Given the description of an element on the screen output the (x, y) to click on. 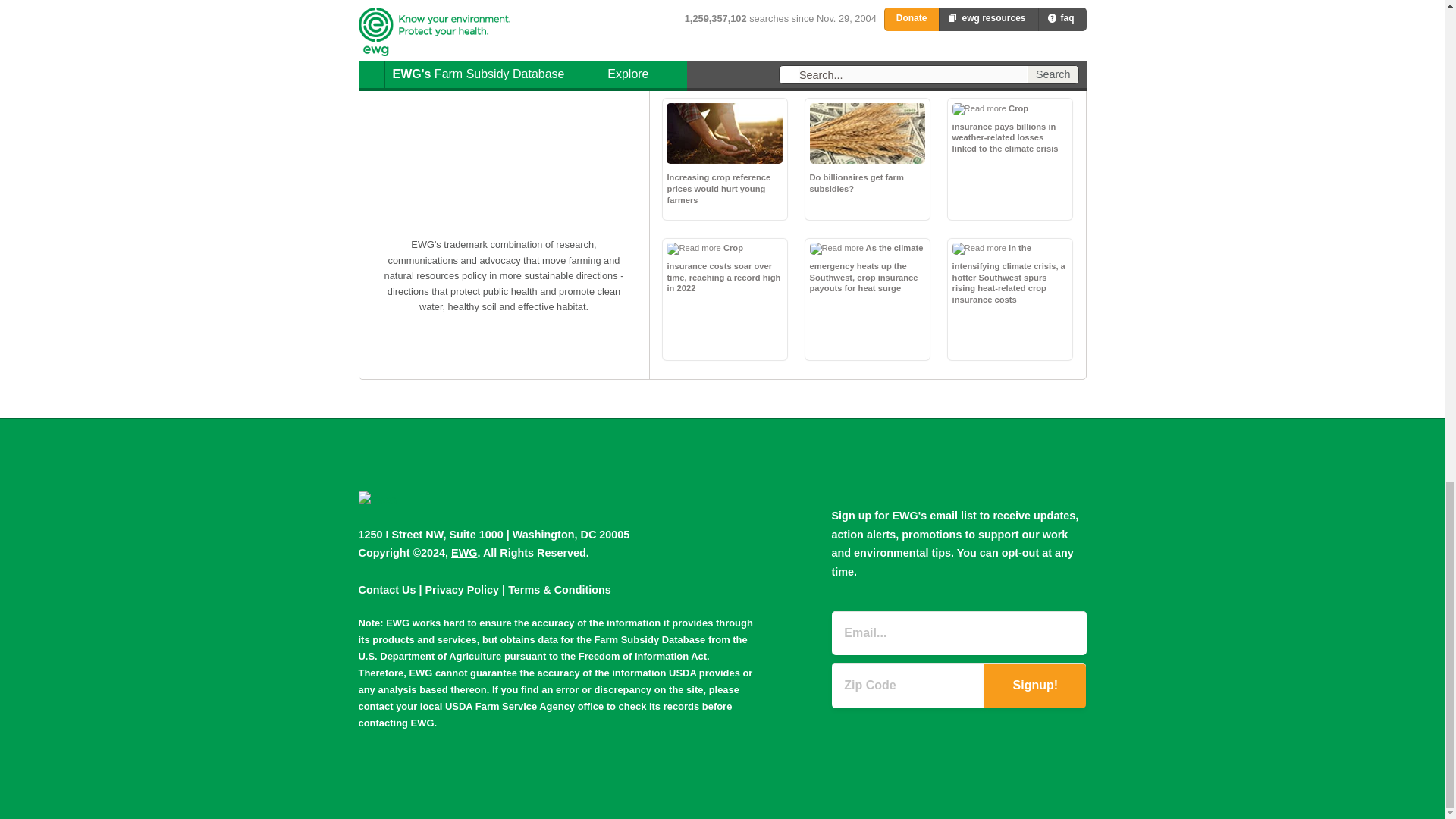
Signup! (1035, 685)
